Given the description of an element on the screen output the (x, y) to click on. 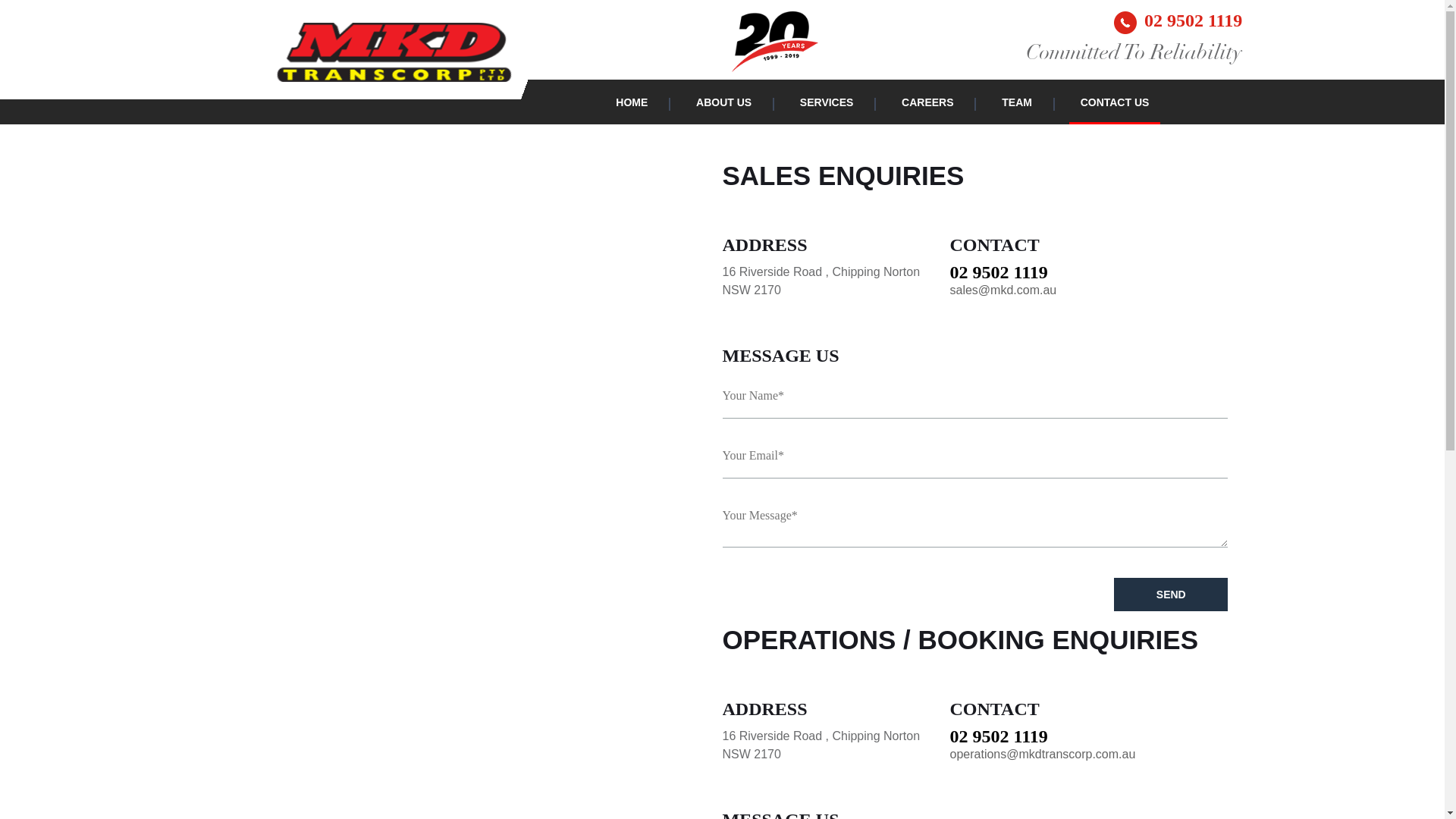
HOME Element type: text (631, 102)
SERVICES Element type: text (826, 102)
operations@mkdtranscorp.com.au Element type: text (1042, 753)
TEAM Element type: text (1016, 102)
CONTACT US Element type: text (1114, 102)
sales@mkd.com.au Element type: text (1003, 289)
Send Element type: text (1170, 594)
CAREERS Element type: text (927, 102)
ABOUT US Element type: text (723, 102)
